Given the description of an element on the screen output the (x, y) to click on. 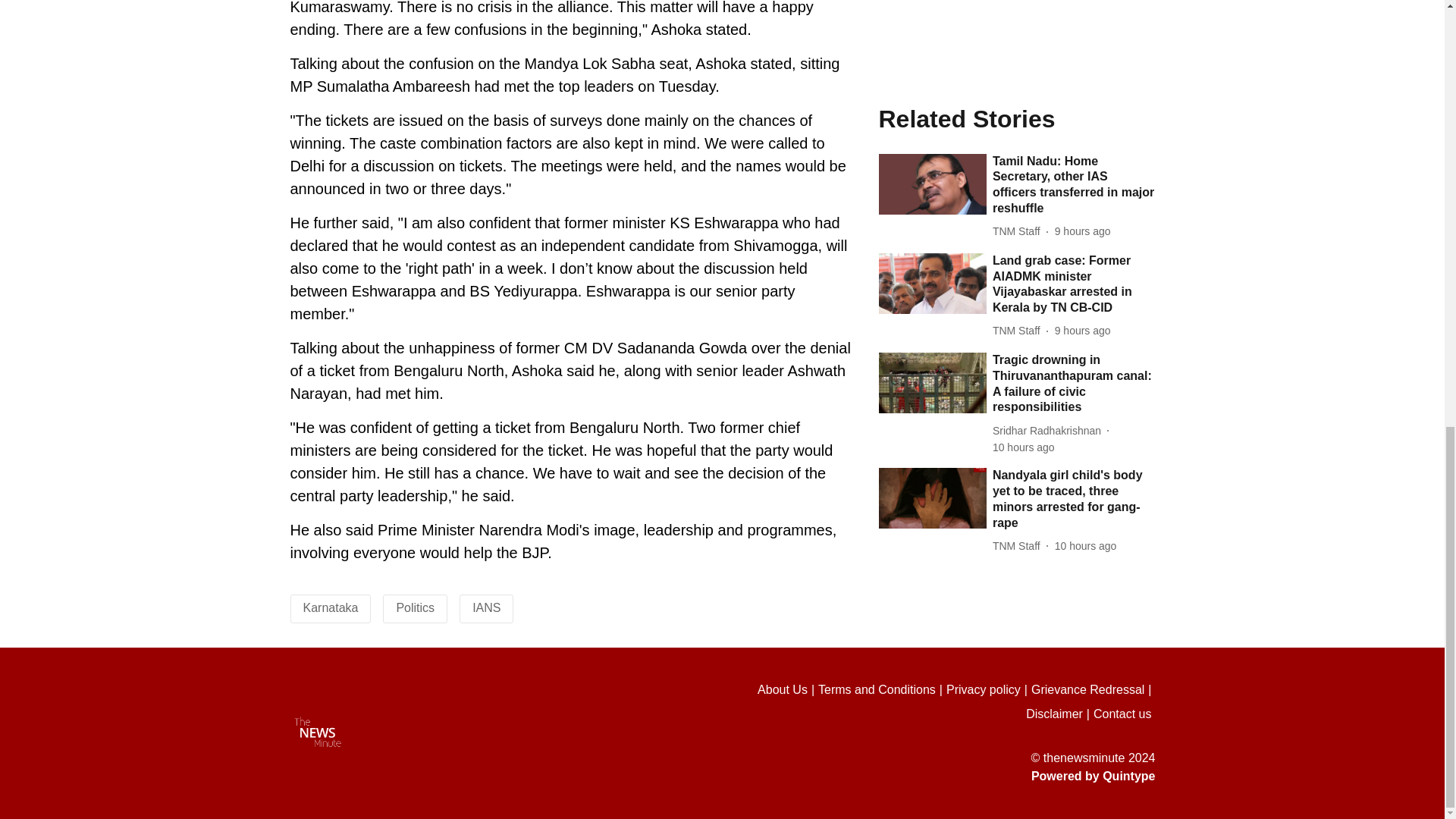
IANS (485, 607)
Politics (414, 607)
About Us (787, 689)
Karnataka (330, 607)
